Given the description of an element on the screen output the (x, y) to click on. 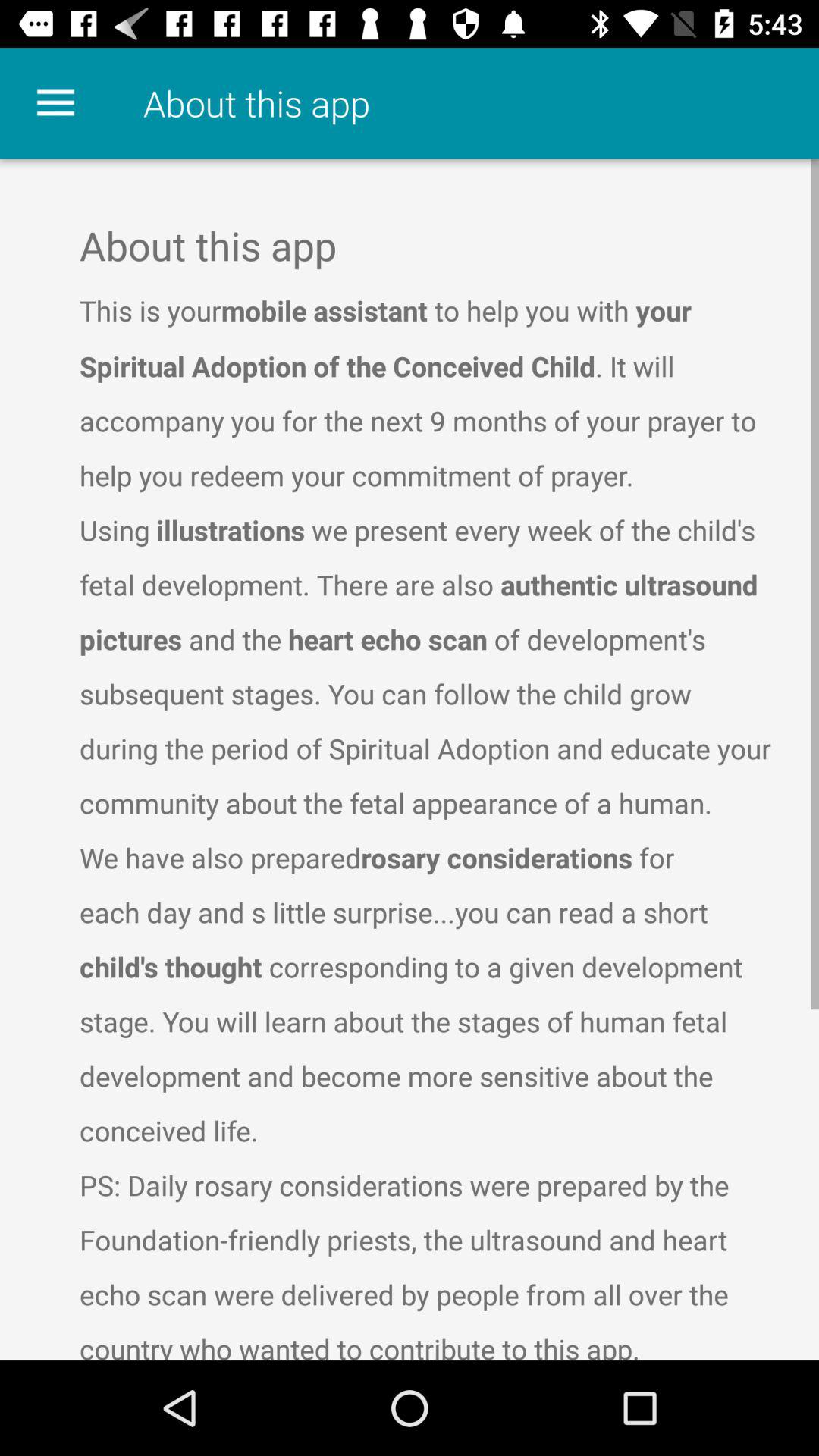
open icon above the about this app item (55, 103)
